Given the description of an element on the screen output the (x, y) to click on. 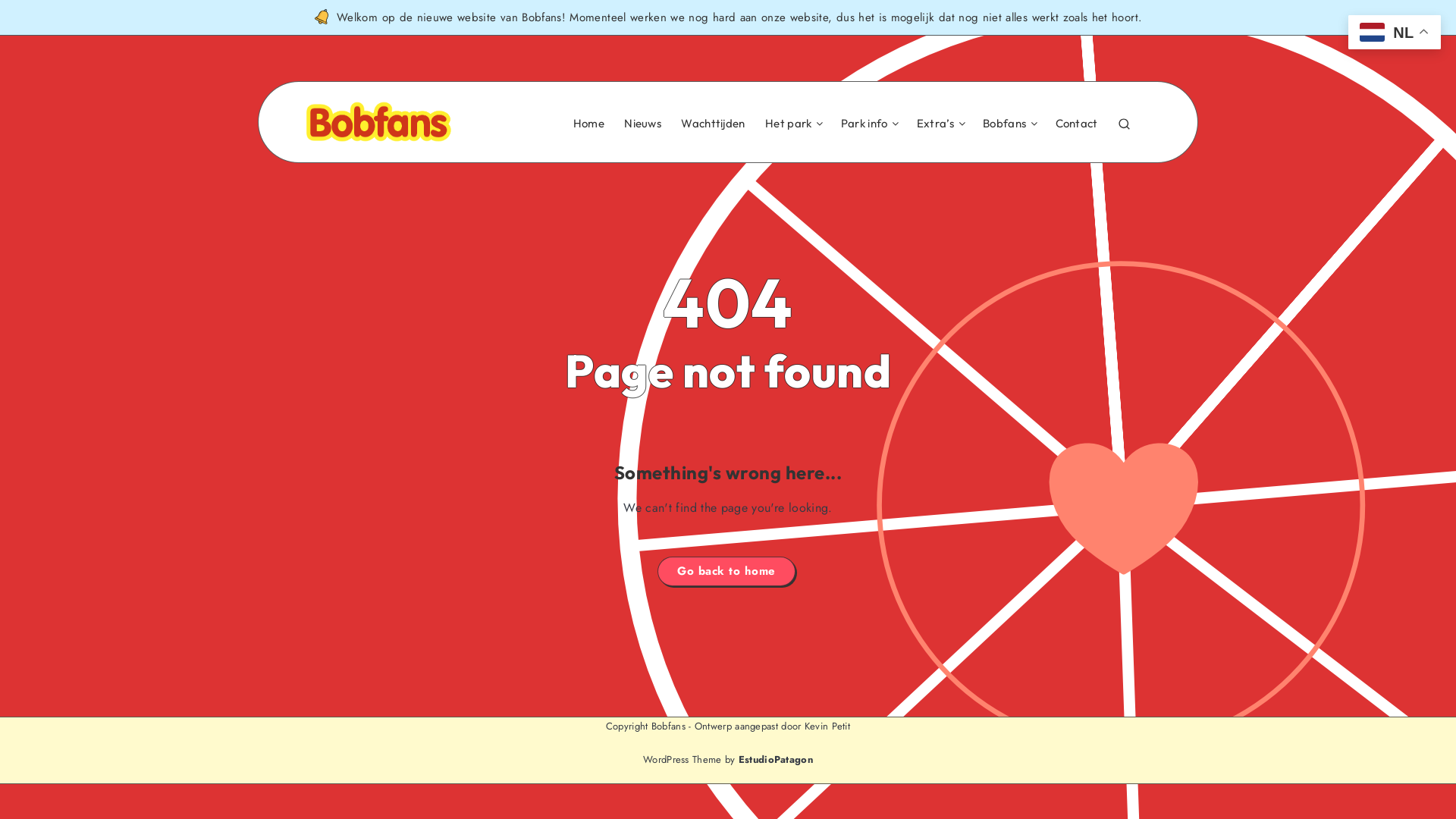
Nieuws Element type: text (642, 123)
Park info Element type: text (864, 123)
Home Element type: text (588, 123)
Het park Element type: text (788, 123)
Het park Element type: text (788, 123)
Bobfans Element type: text (1004, 123)
EstudioPatagon Element type: text (775, 761)
Go back to home Element type: text (726, 571)
Park info Element type: text (865, 123)
Wachttijden Element type: text (712, 123)
Contact Element type: text (1076, 123)
Bobfans Element type: text (1004, 123)
